Given the description of an element on the screen output the (x, y) to click on. 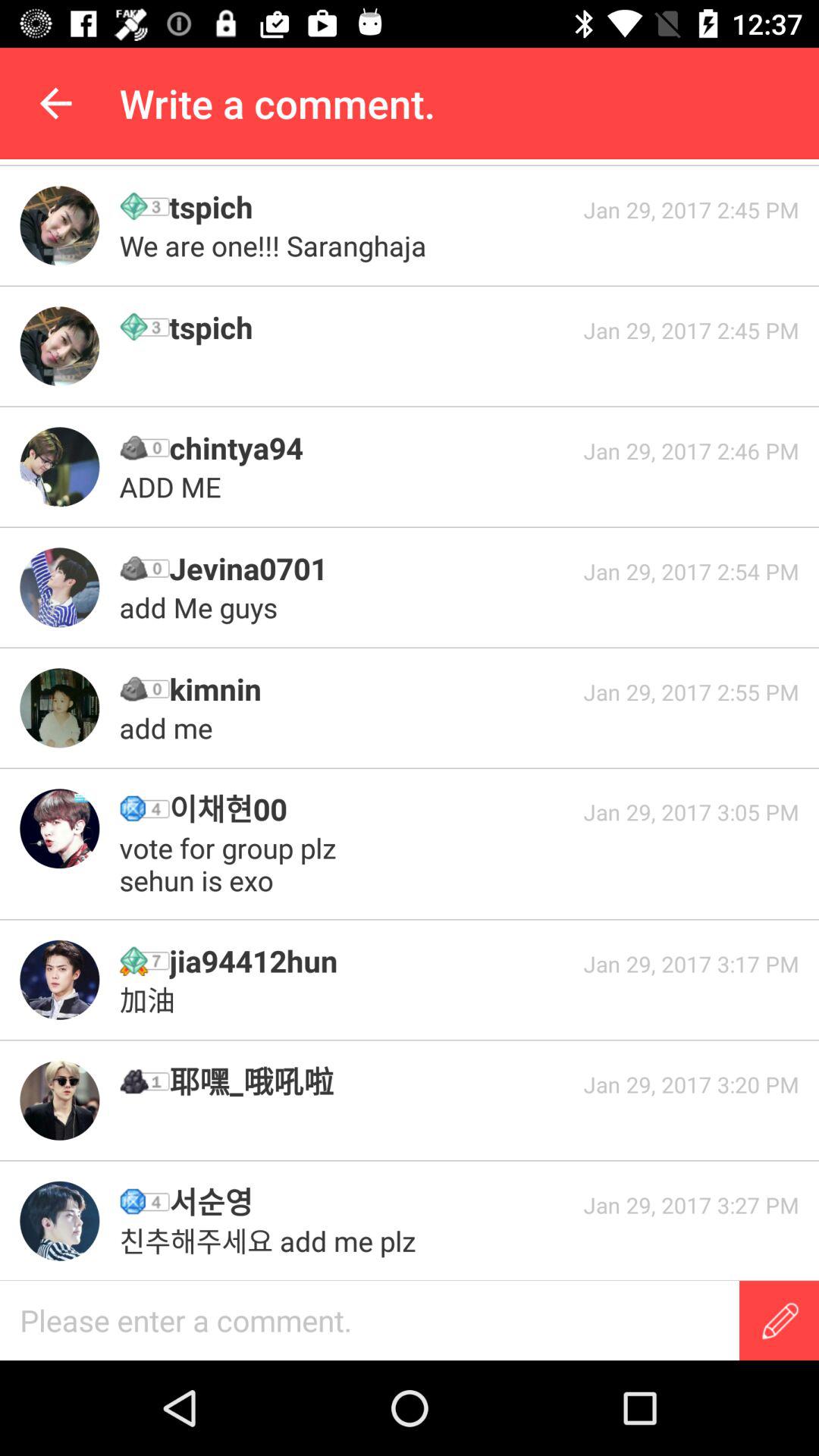
select profile (59, 1220)
